Given the description of an element on the screen output the (x, y) to click on. 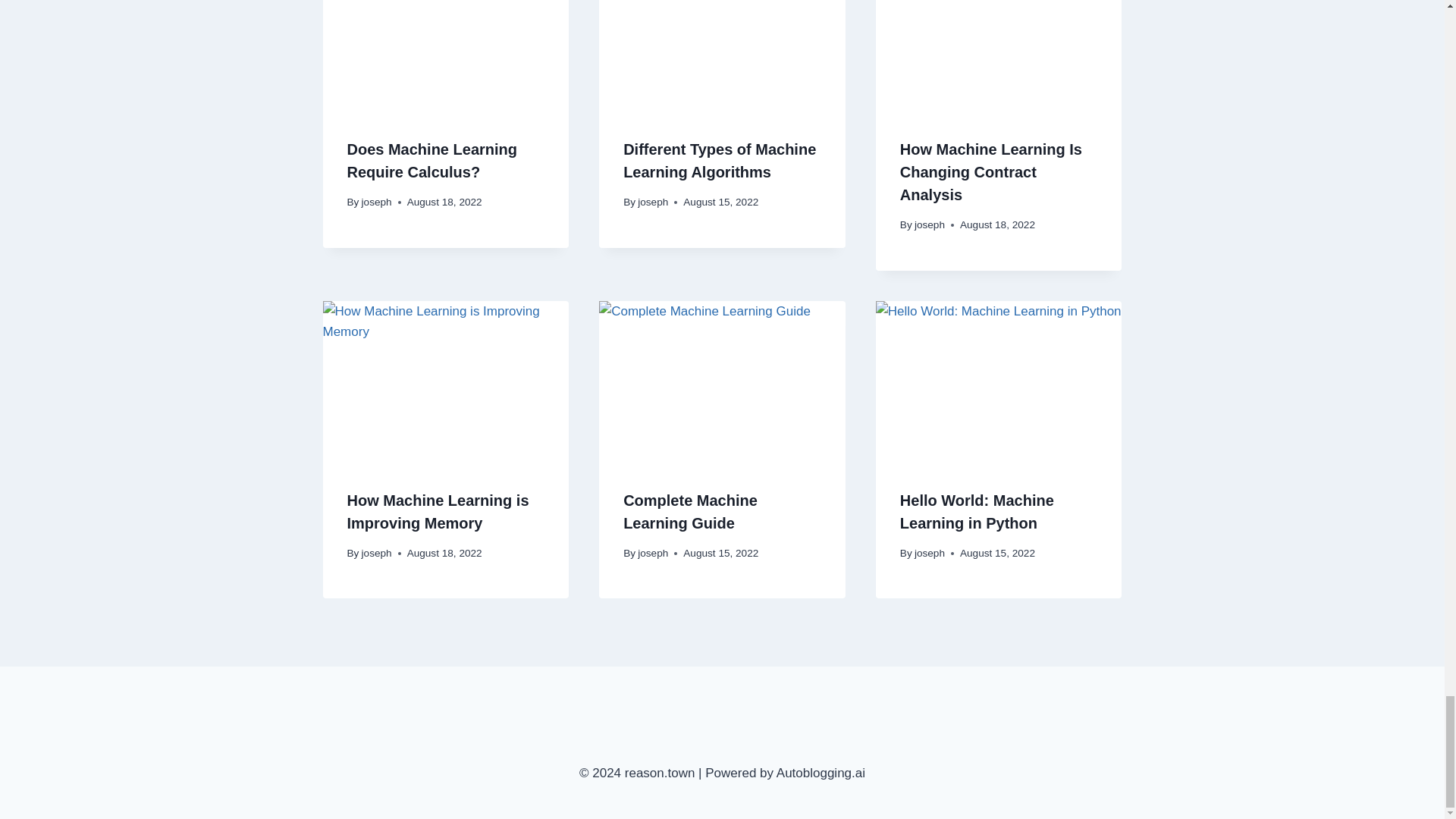
Different Types of Machine Learning Algorithms (719, 160)
joseph (652, 202)
Does Machine Learning Require Calculus? (432, 160)
joseph (376, 202)
How Machine Learning Is Changing Contract Analysis (990, 171)
joseph (929, 224)
